Given the description of an element on the screen output the (x, y) to click on. 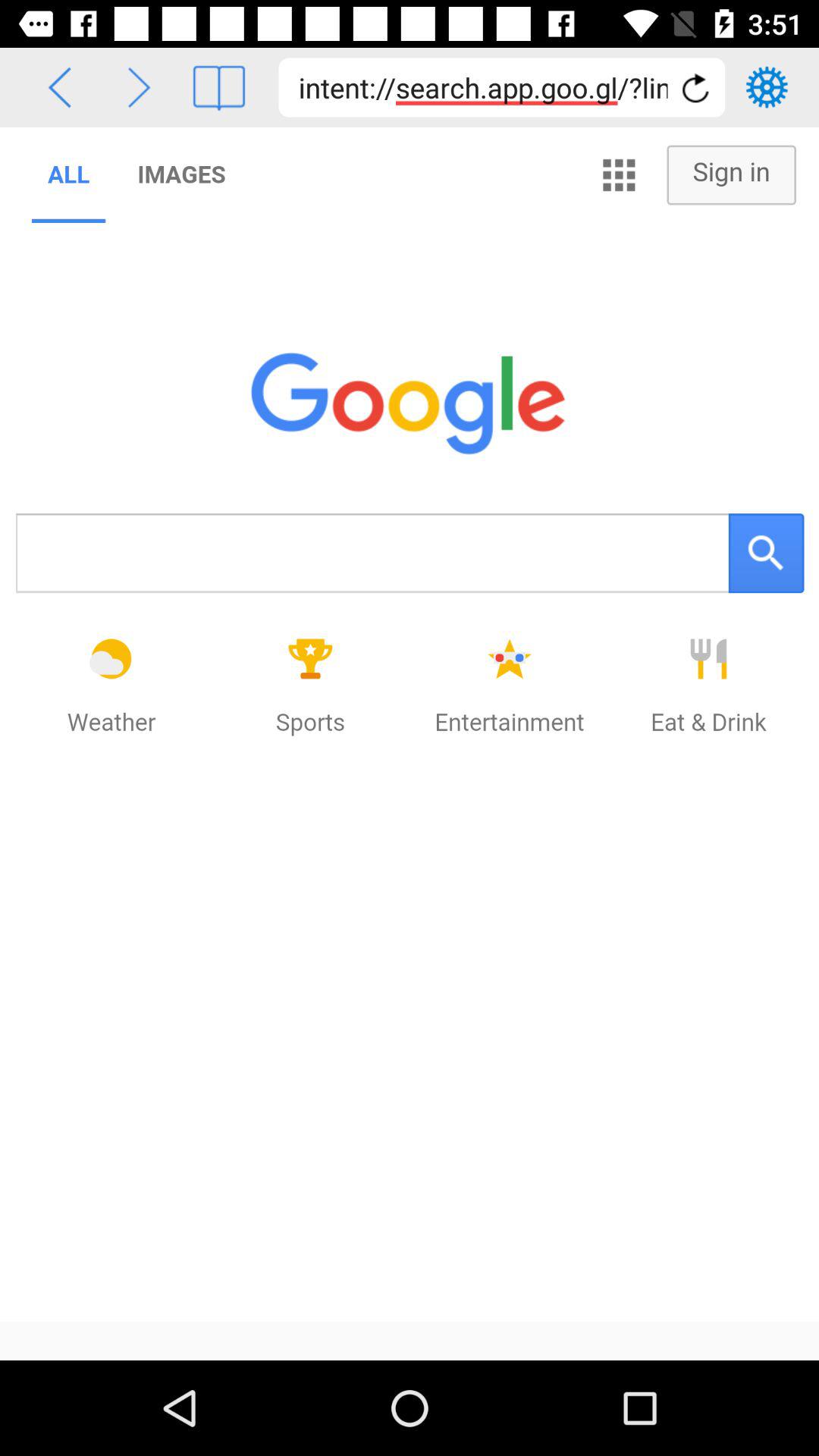
settings tool (766, 87)
